Given the description of an element on the screen output the (x, y) to click on. 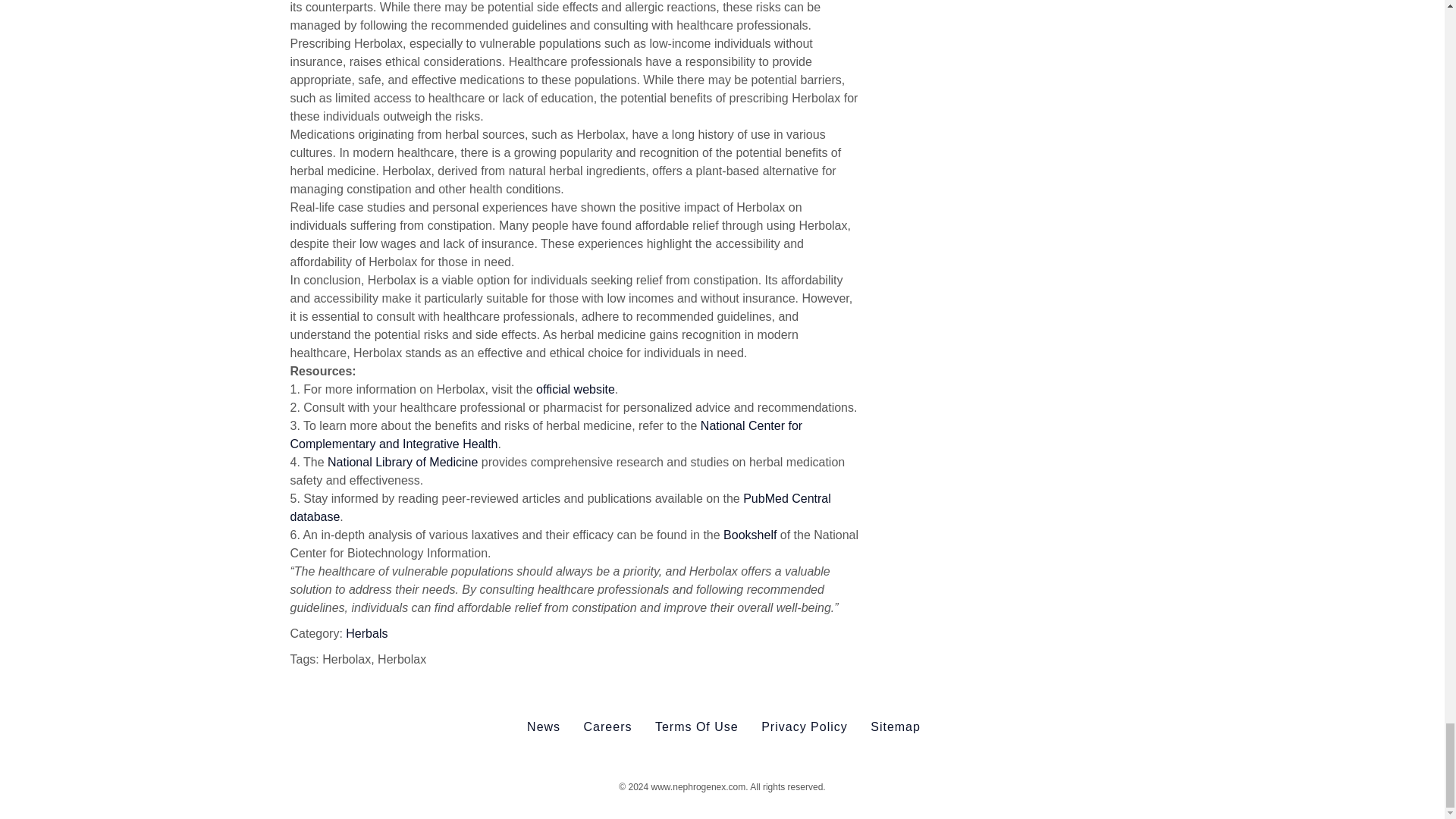
National Center for Complementary and Integrative Health (545, 434)
official website (574, 389)
Bookshelf (749, 534)
PubMed Central database (559, 507)
National Library of Medicine (402, 461)
Herbals (366, 633)
